Given the description of an element on the screen output the (x, y) to click on. 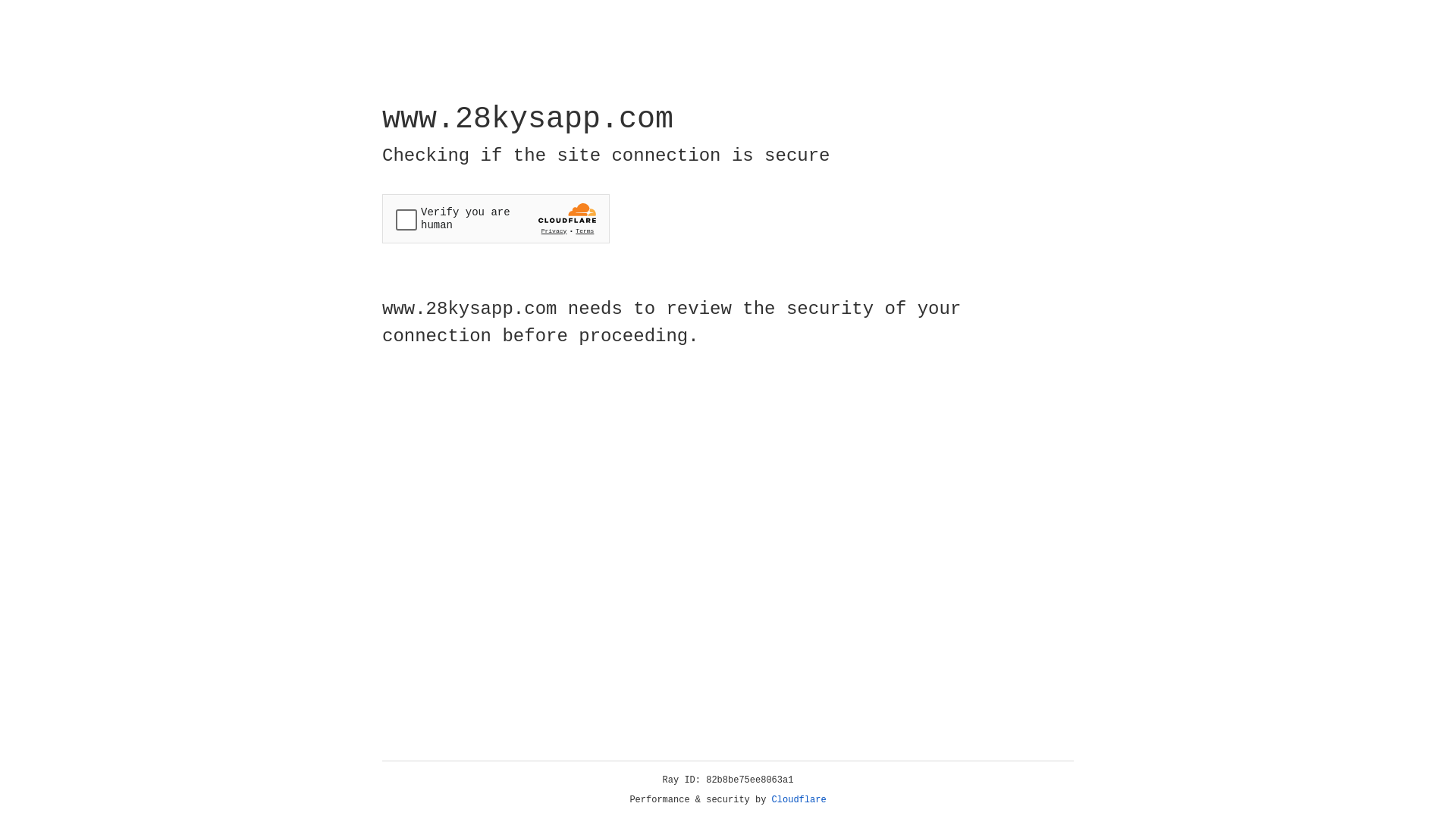
Cloudflare Element type: text (798, 799)
Widget containing a Cloudflare security challenge Element type: hover (495, 218)
